Given the description of an element on the screen output the (x, y) to click on. 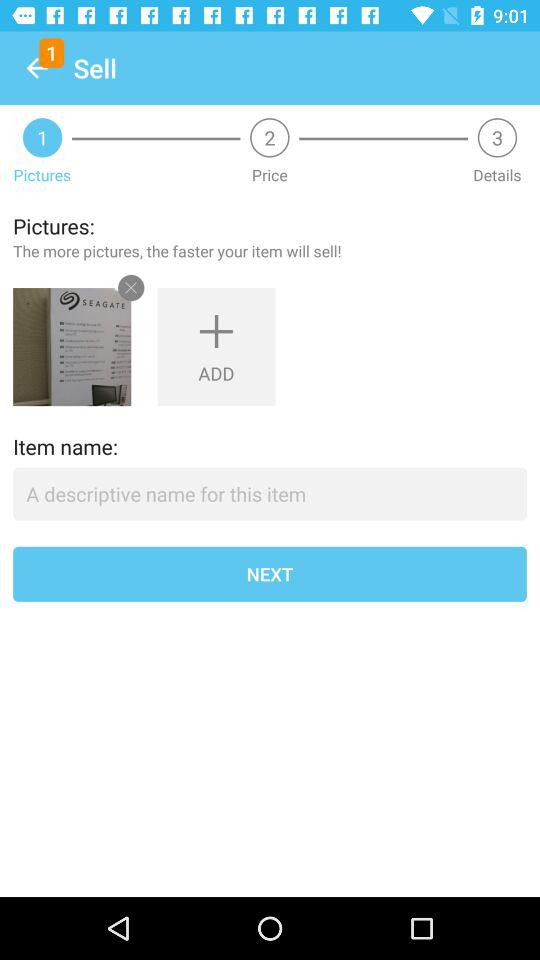
open the icon below item name: item (269, 493)
